Given the description of an element on the screen output the (x, y) to click on. 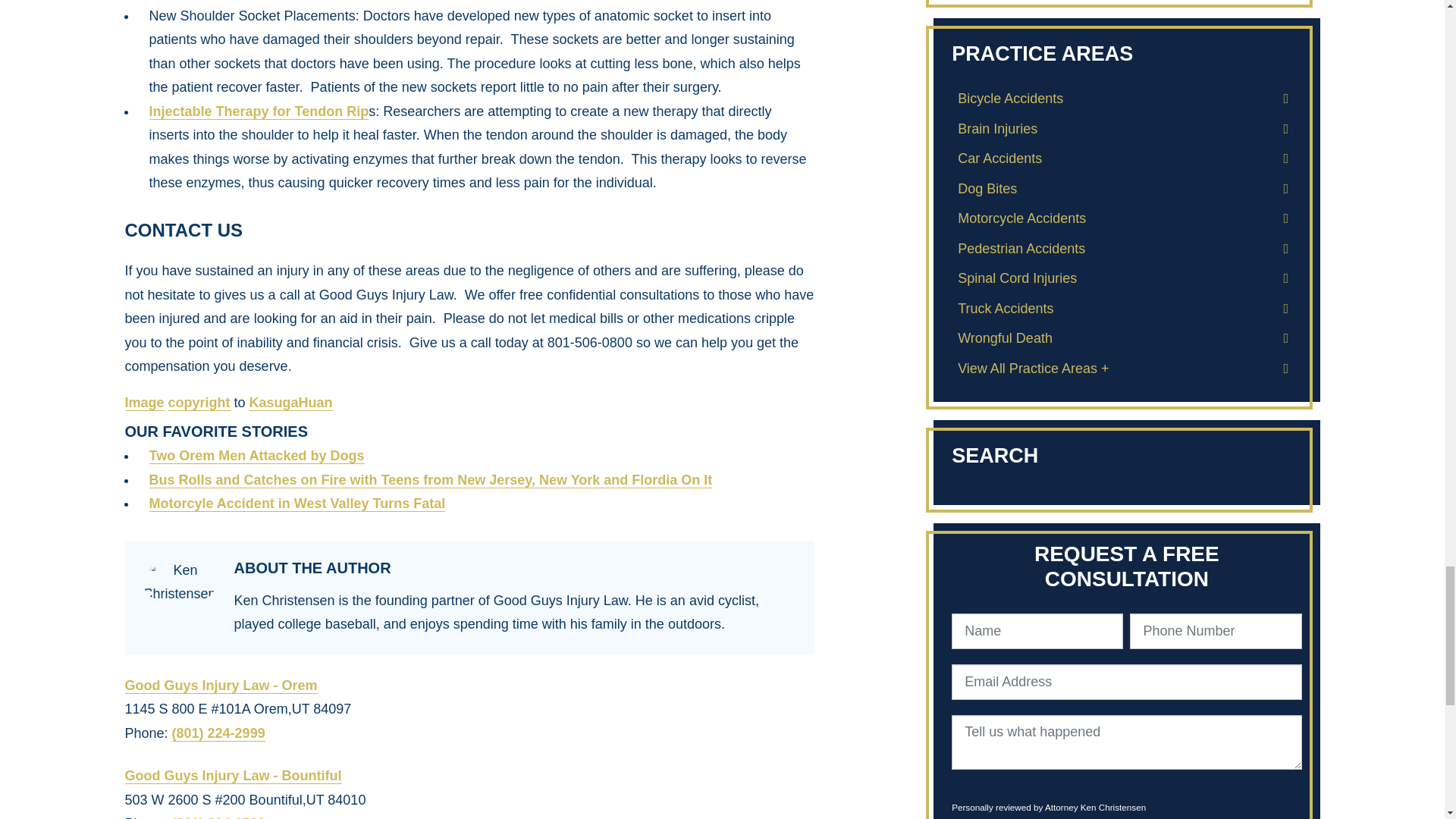
User:KasugaHuang (290, 402)
Injectable Therapy (258, 111)
